Given the description of an element on the screen output the (x, y) to click on. 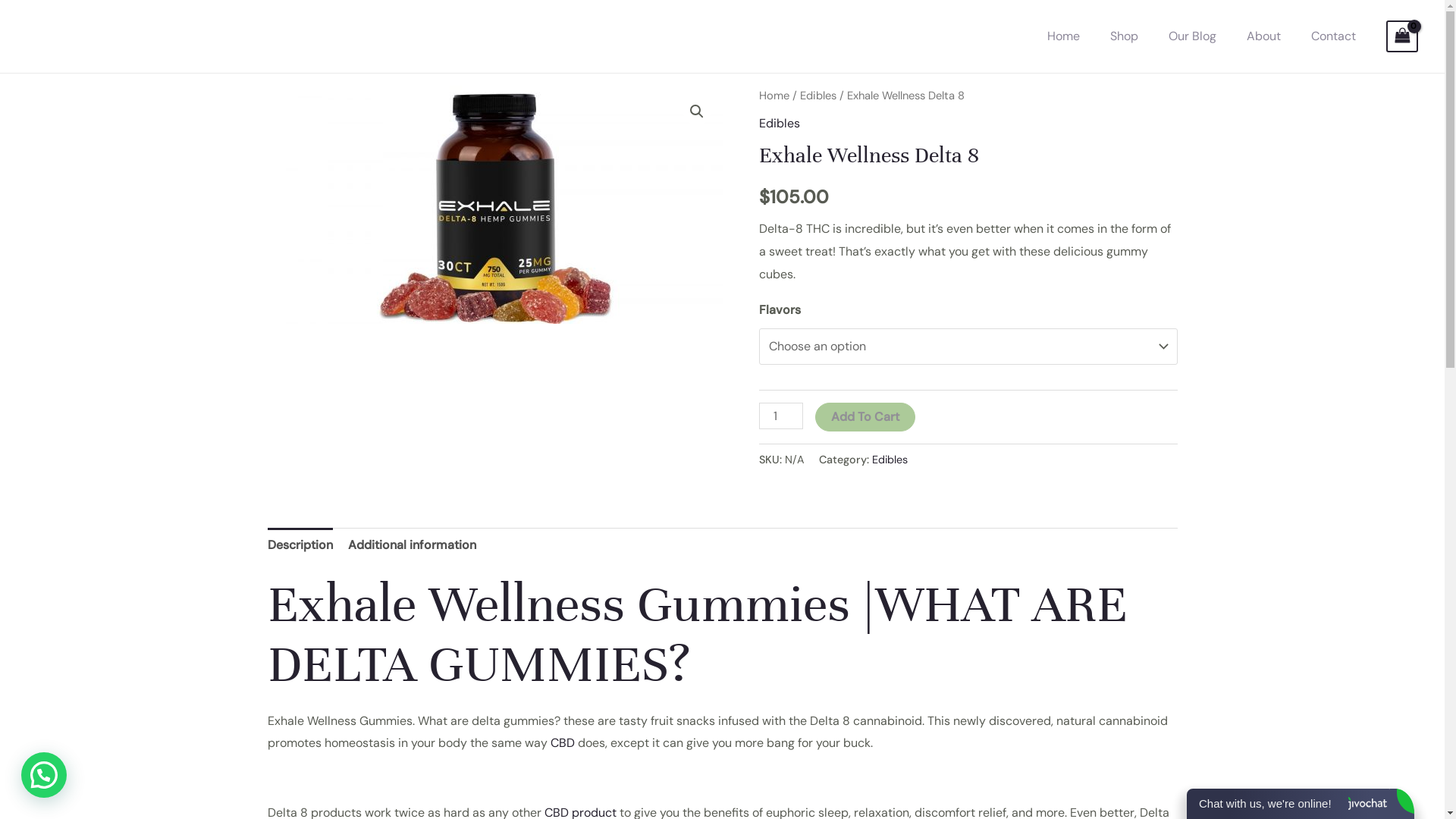
Our Blog Element type: text (1192, 36)
Description Element type: text (299, 544)
Home Element type: text (773, 95)
Edibles Element type: text (889, 459)
What are delta gummies? Element type: hover (493, 204)
Edibles Element type: text (817, 95)
Home Element type: text (1063, 36)
Edibles Element type: text (778, 123)
Add To Cart Element type: text (865, 416)
CBD Element type: text (562, 742)
Additional information Element type: text (411, 544)
Contact Element type: text (1333, 36)
Shop Element type: text (1124, 36)
About Element type: text (1263, 36)
